Given the description of an element on the screen output the (x, y) to click on. 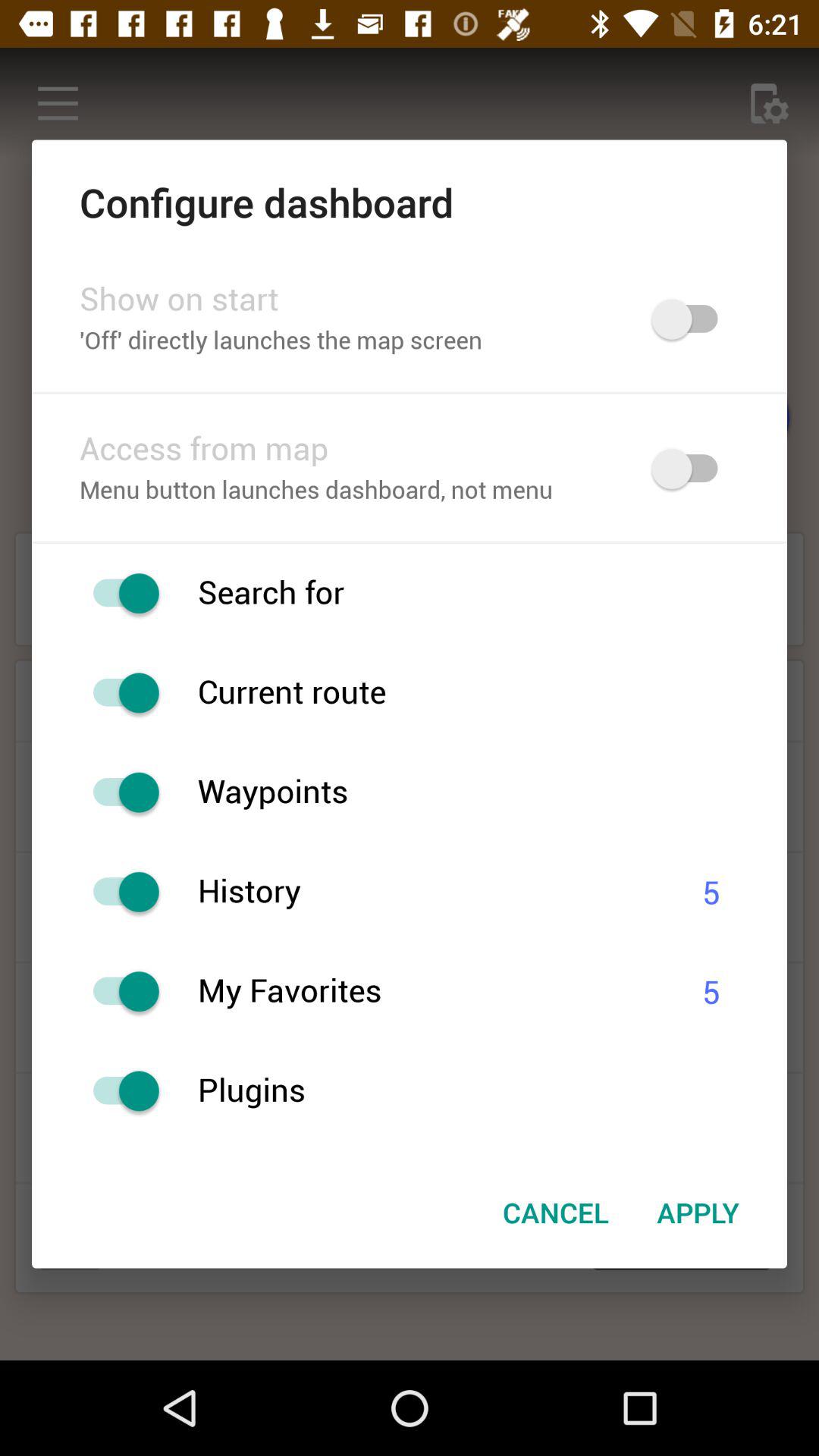
click item next to the 5 icon (430, 991)
